Given the description of an element on the screen output the (x, y) to click on. 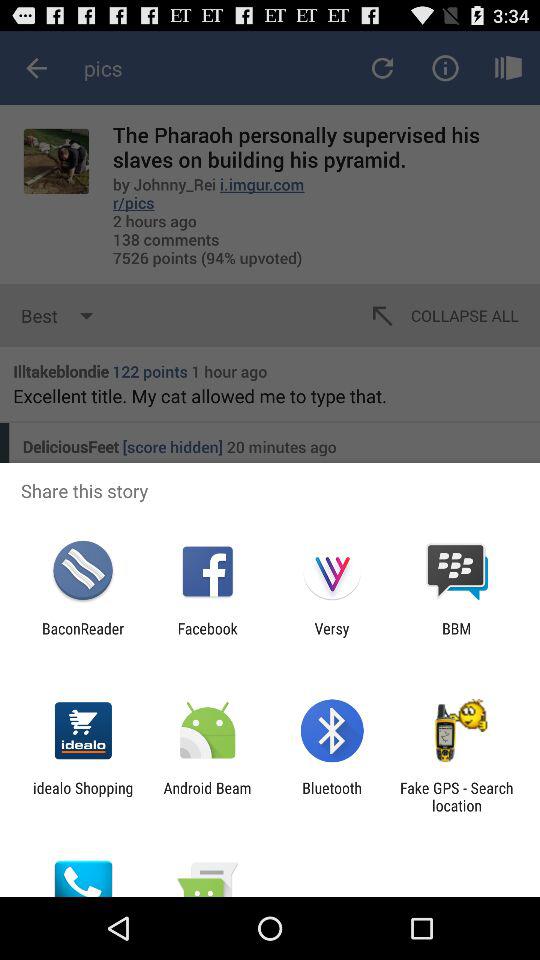
turn on versy app (331, 637)
